Given the description of an element on the screen output the (x, y) to click on. 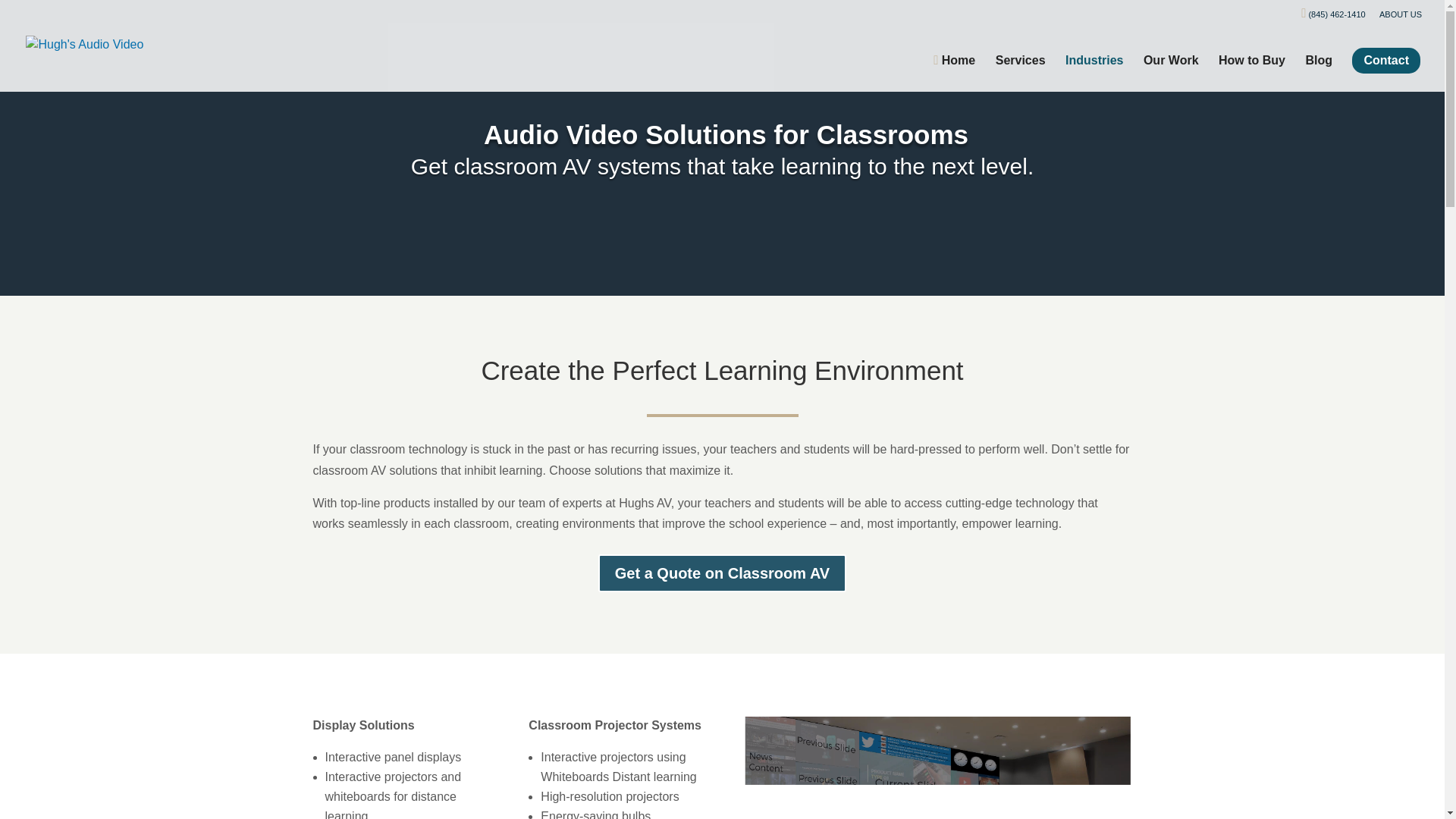
Services (1020, 72)
Our Work (1170, 72)
Home (954, 72)
How to Buy (1251, 72)
Industries (1093, 72)
ABOUT US (1400, 17)
Contact (1386, 60)
Get a Quote on Classroom AV (721, 573)
